Given the description of an element on the screen output the (x, y) to click on. 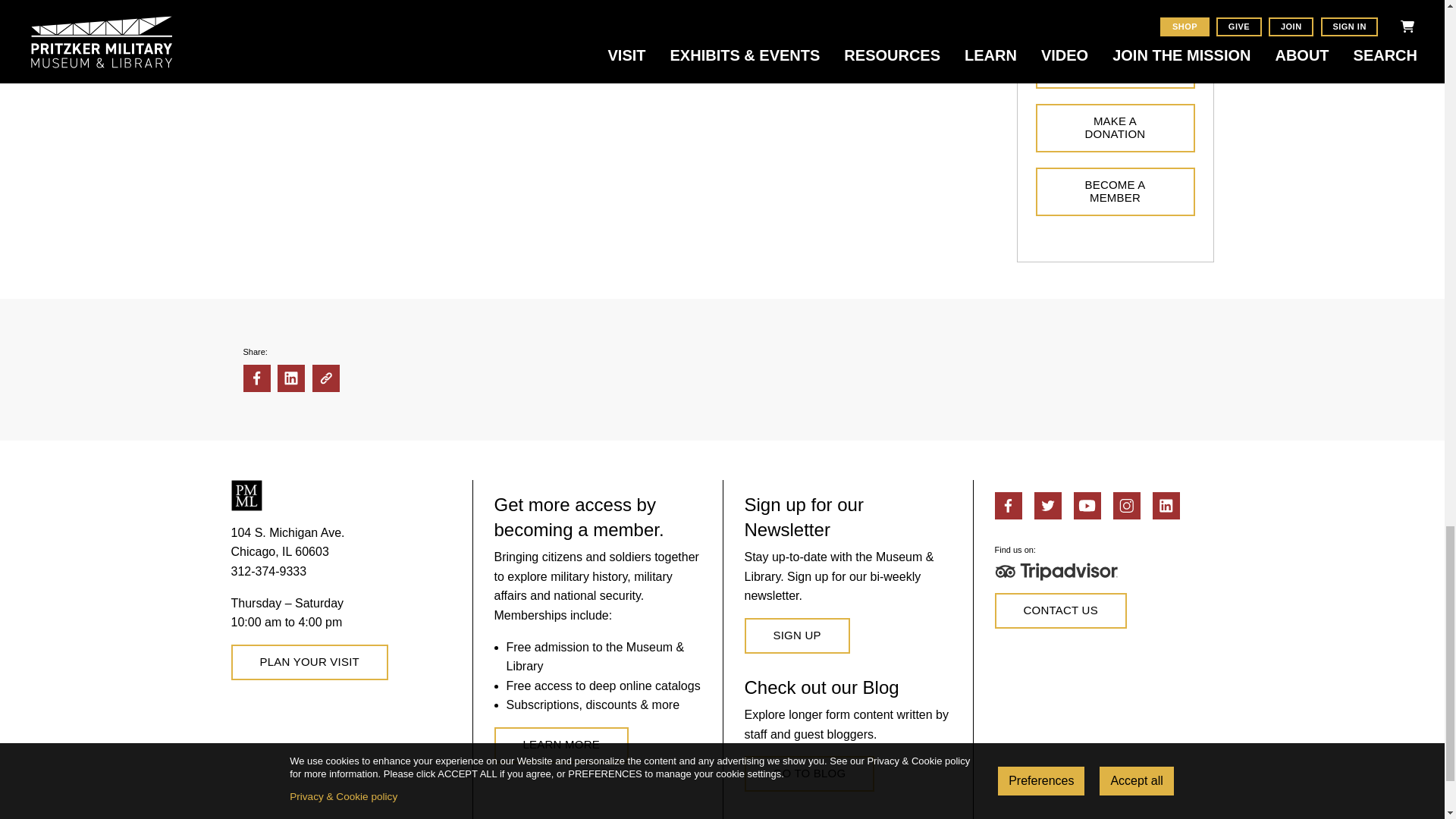
Youtube (1087, 505)
Instagram (1126, 505)
Share to E-mail (326, 378)
LinkIn (1166, 505)
Share to Facebook (256, 378)
Share to Linkedin (291, 378)
Twitter (1047, 505)
Facebook (1008, 505)
